Given the description of an element on the screen output the (x, y) to click on. 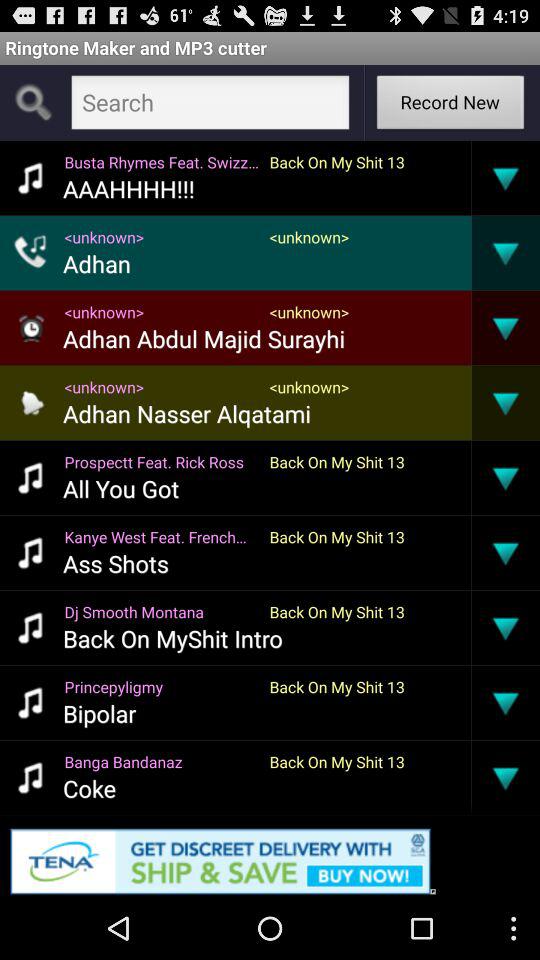
opens an advertisement (270, 857)
